Given the description of an element on the screen output the (x, y) to click on. 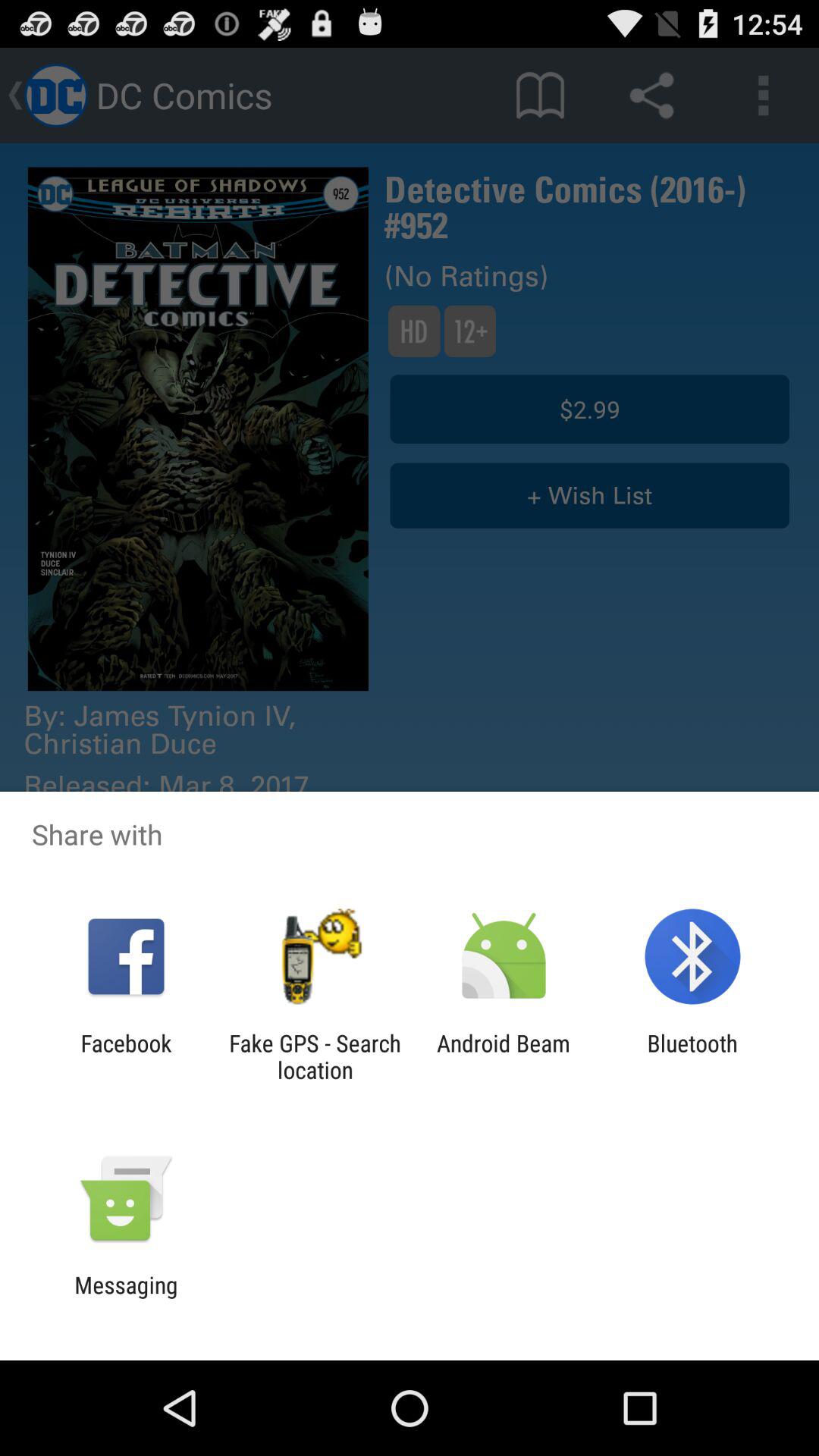
tap the android beam app (503, 1056)
